Given the description of an element on the screen output the (x, y) to click on. 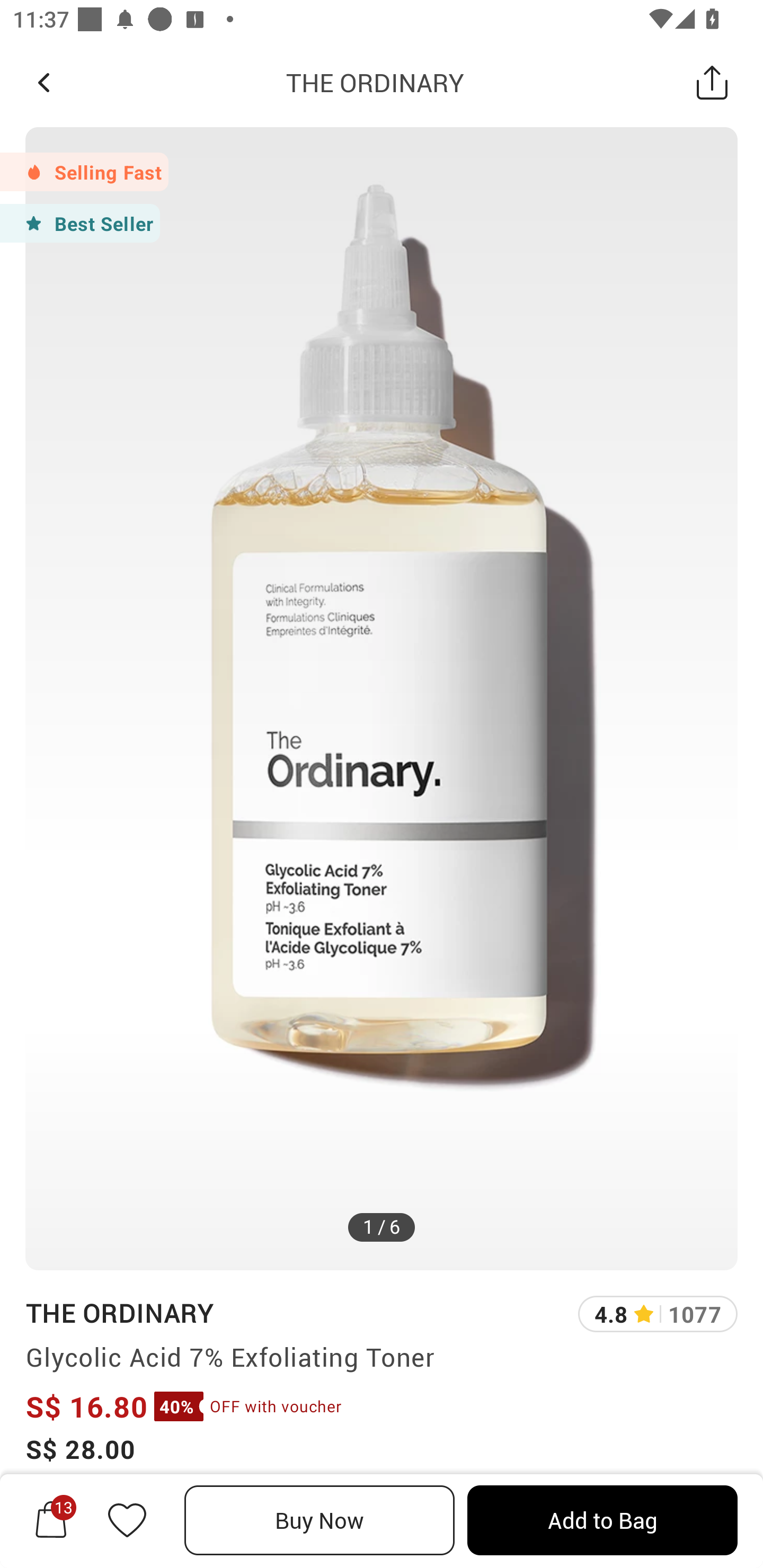
THE ORDINARY (375, 82)
Share this Product (711, 82)
THE ORDINARY (119, 1312)
4.8 1077 (657, 1313)
Buy Now (319, 1519)
Add to Bag (601, 1519)
13 (50, 1520)
